Given the description of an element on the screen output the (x, y) to click on. 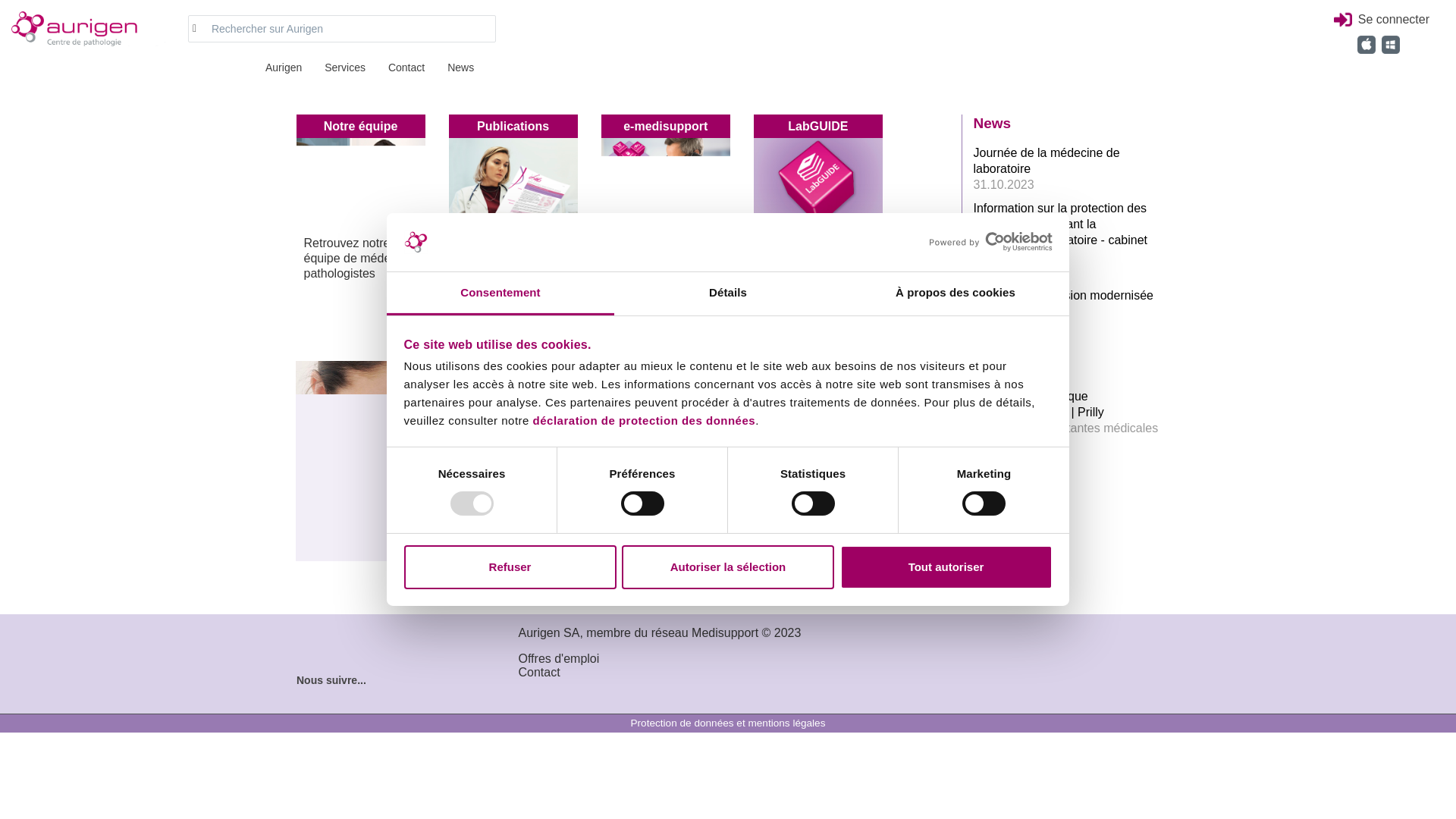
Aurigen Element type: hover (82, 28)
News Element type: text (992, 123)
Offres d'emploi Element type: text (558, 658)
Contact Element type: text (413, 68)
Refuser Element type: text (509, 567)
Consentement Element type: text (500, 293)
Contact Element type: text (539, 671)
Aurigen Element type: text (290, 68)
Agenda Element type: text (999, 372)
Tout autoriser Element type: text (946, 567)
Services Element type: text (352, 68)
News Element type: text (467, 68)
